Given the description of an element on the screen output the (x, y) to click on. 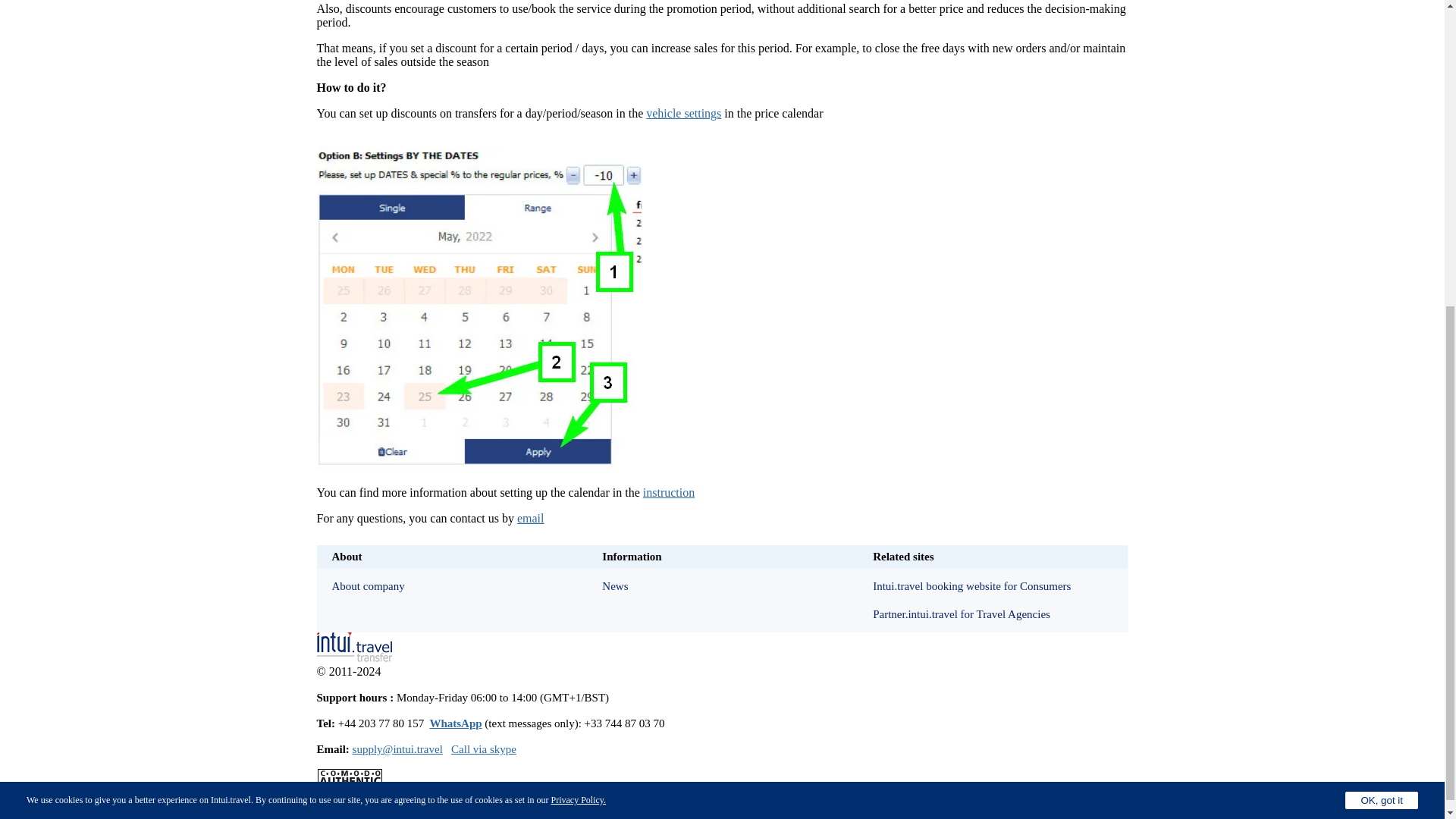
About company (451, 586)
WhatsApp (455, 723)
Intui.travel booking website for Consumers (992, 586)
About company (451, 586)
News (721, 586)
Privacy Policy (577, 309)
Partner.intui.travel for Travel Agencies (992, 614)
instruction (668, 492)
OK, got it (1381, 310)
Partner.intui.travel for Travel Agencies (992, 614)
News (721, 586)
Intui.travel booking website for Consumers (992, 586)
Call via skype (483, 748)
Call via skype (483, 748)
vehicle settings (683, 113)
